Given the description of an element on the screen output the (x, y) to click on. 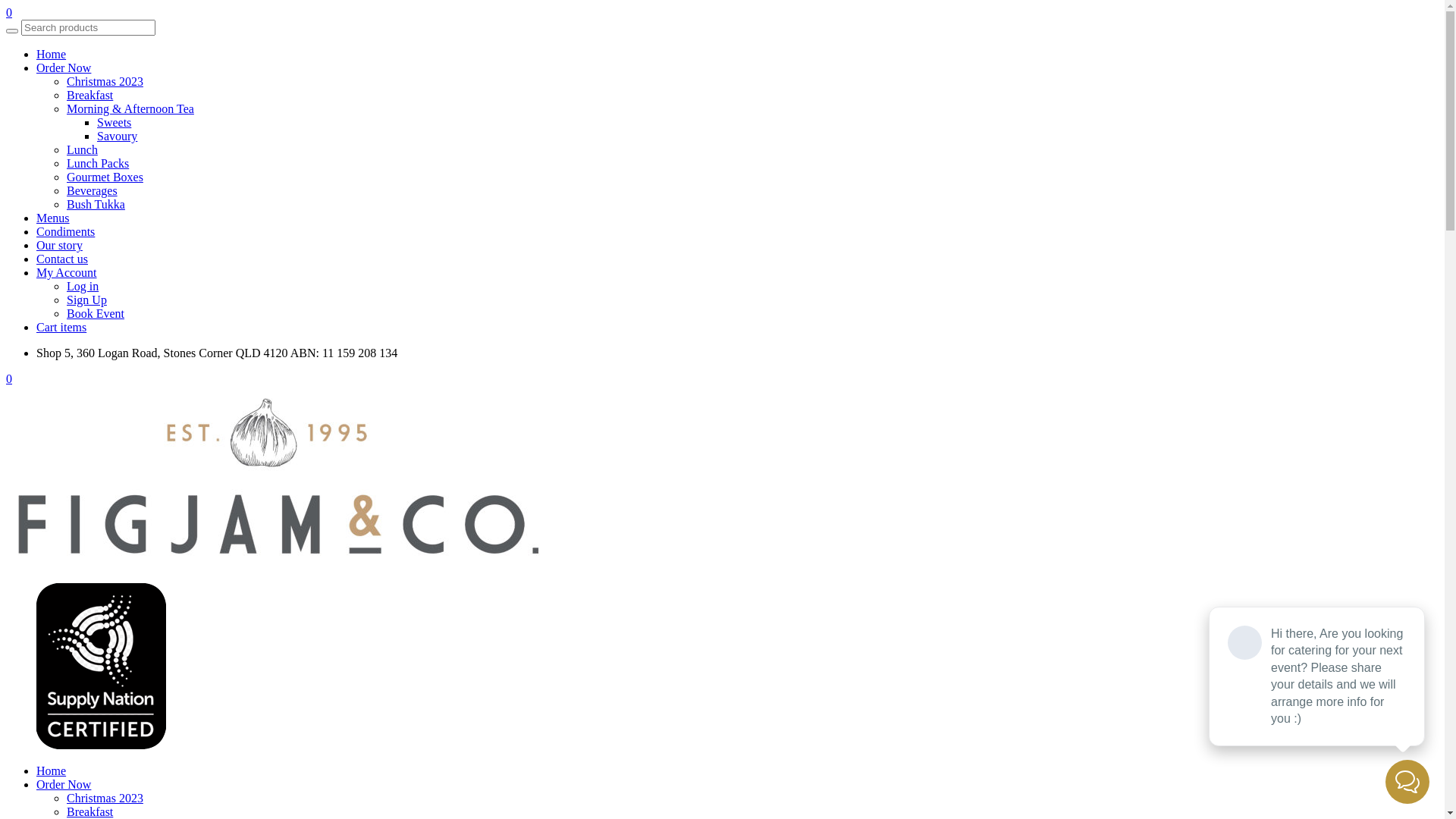
Breakfast Element type: text (89, 811)
My Account Element type: text (66, 272)
Menus Element type: text (52, 217)
Lunch Element type: text (81, 149)
Christmas 2023 Element type: text (104, 797)
Morning & Afternoon Tea Element type: text (130, 108)
Order Now Element type: text (63, 67)
Log in Element type: text (82, 285)
Sweets Element type: text (114, 122)
Savoury Element type: text (117, 135)
Sign Up Element type: text (86, 299)
0 Element type: text (9, 378)
Bush Tukka Element type: text (95, 203)
Contact us Element type: text (61, 258)
Order Now Element type: text (63, 784)
Cart items Element type: text (61, 326)
Beverages Element type: text (91, 190)
Home Element type: text (50, 770)
0 Element type: text (9, 12)
Home Element type: text (50, 53)
Christmas 2023 Element type: text (104, 81)
Book Event Element type: text (95, 313)
Condiments Element type: text (65, 231)
Our story Element type: text (59, 244)
Gourmet Boxes Element type: text (104, 176)
Lunch Packs Element type: text (97, 162)
Breakfast Element type: text (89, 94)
